Given the description of an element on the screen output the (x, y) to click on. 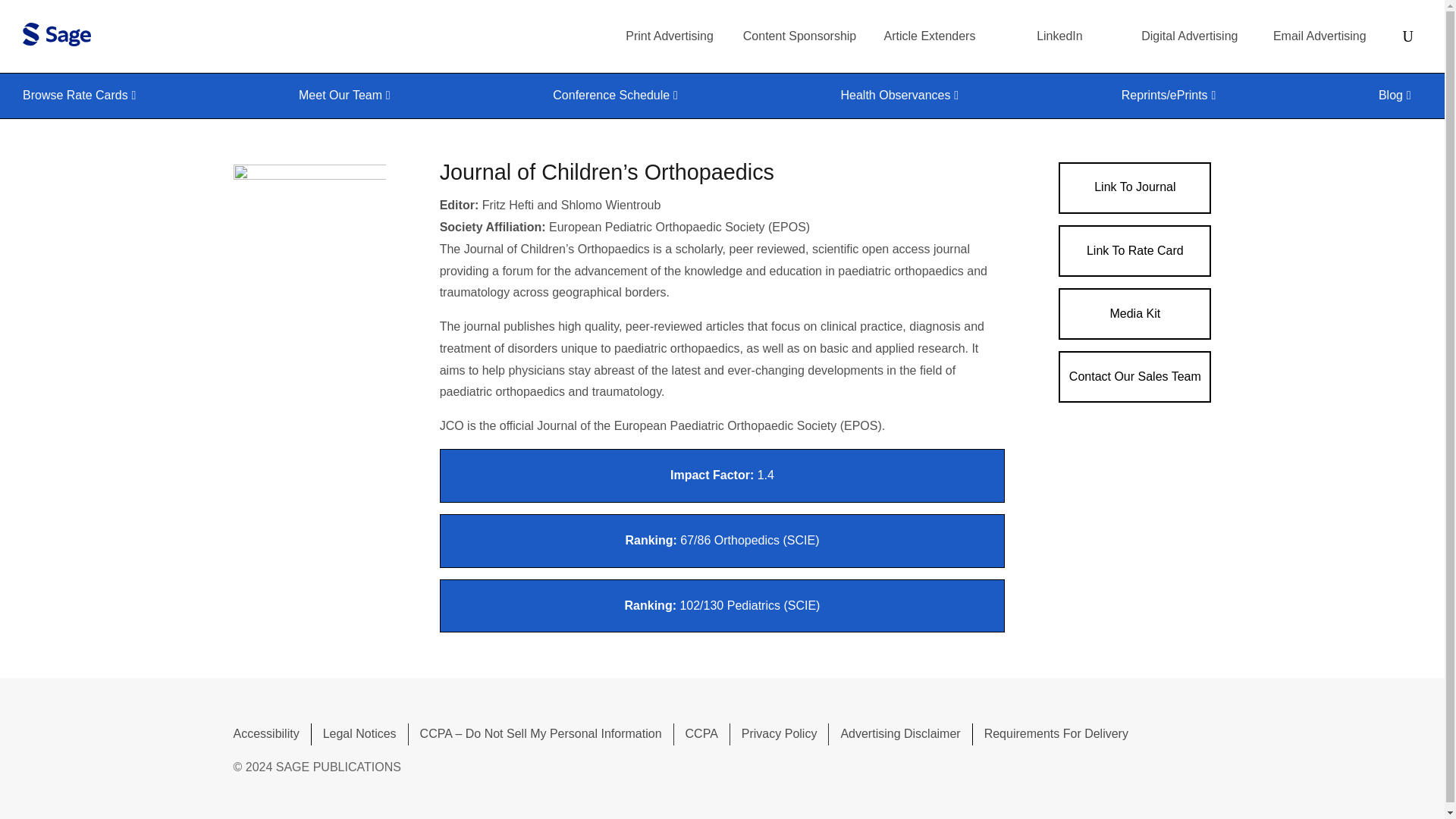
LinkedIn (1059, 35)
Digital Advertising (1189, 35)
Print Advertising (669, 35)
Conference Schedule (620, 95)
Article Extenders (929, 35)
Browse Rate Cards (85, 95)
Email Advertising (1319, 35)
Content Sponsorship (799, 35)
Health Observances (905, 95)
Meet Our Team (349, 95)
sage-logo-navy-on-white (56, 33)
Blog (1400, 95)
